Given the description of an element on the screen output the (x, y) to click on. 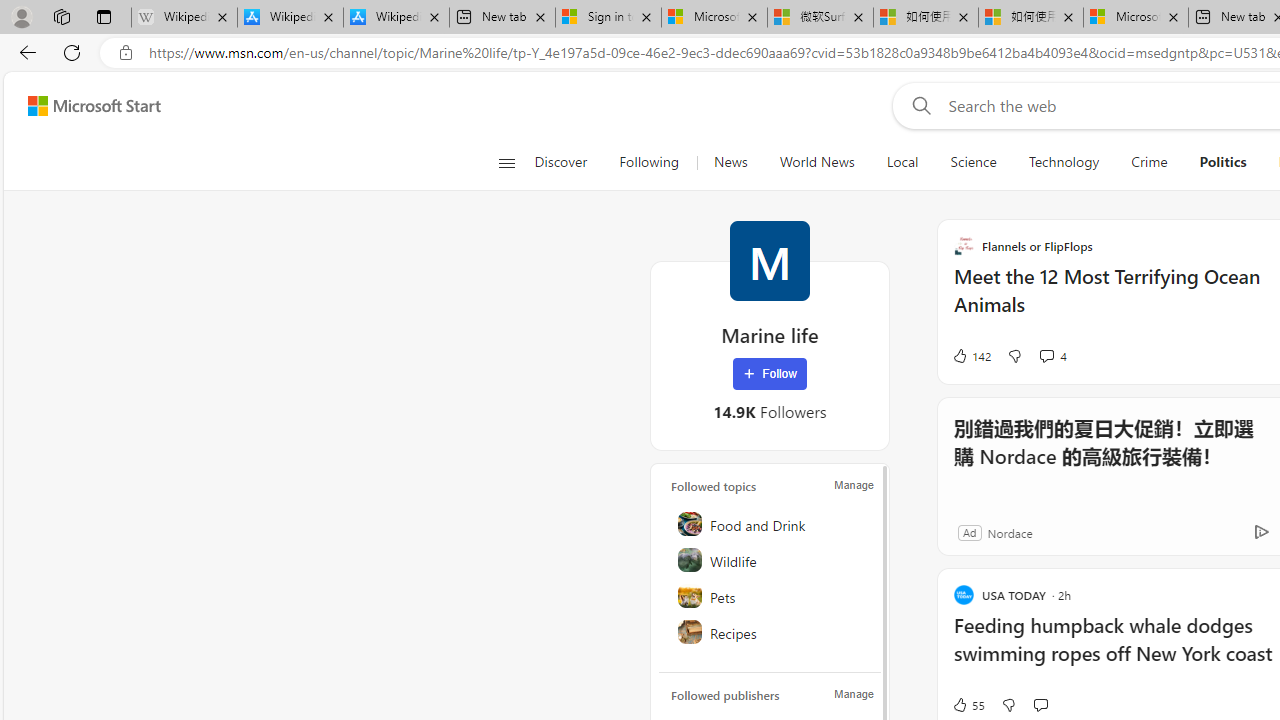
Follow (769, 373)
View comments 4 Comment (1052, 355)
